Given the description of an element on the screen output the (x, y) to click on. 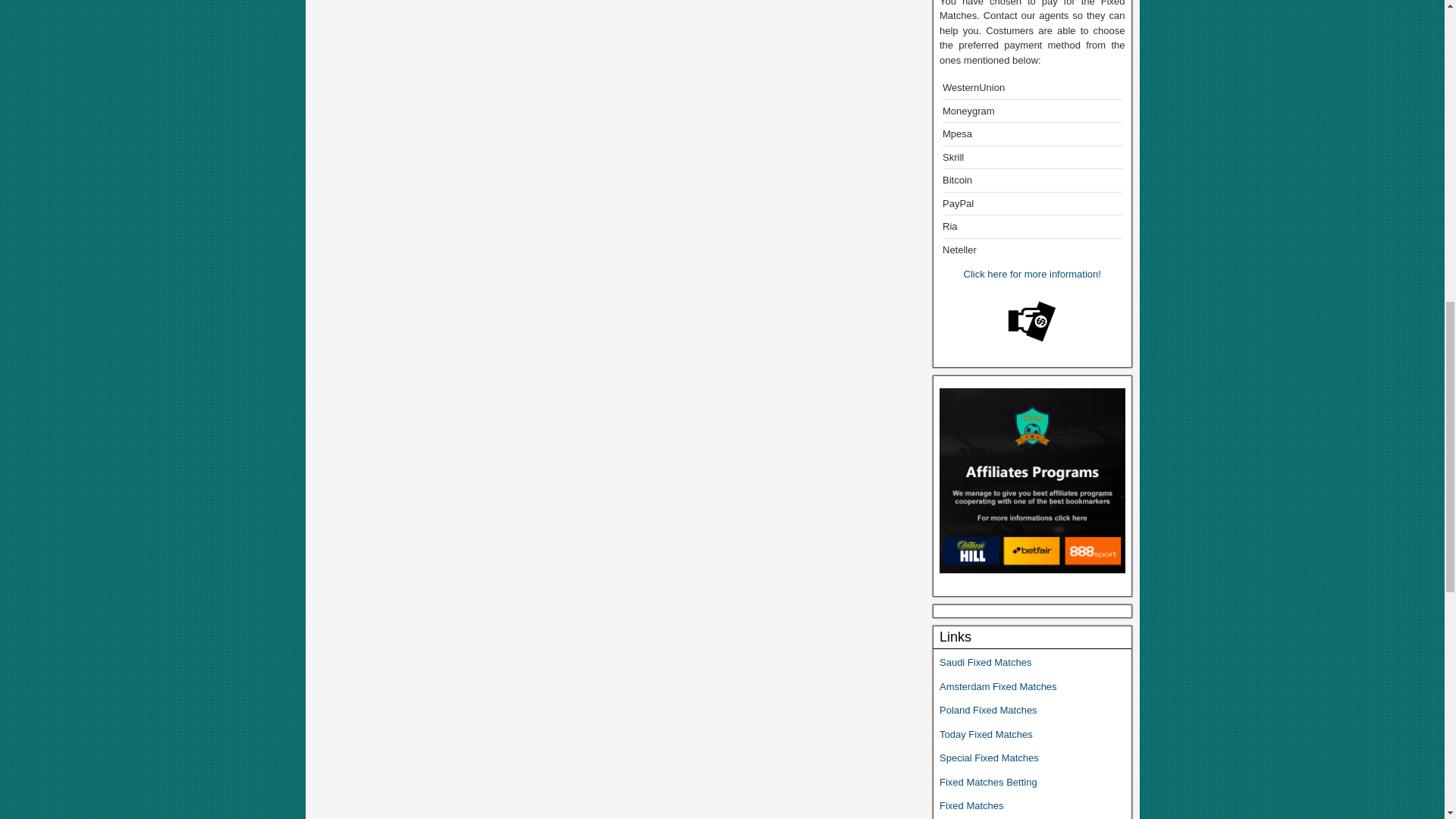
Poland Fixed Matches (987, 709)
Fixed Matches (971, 805)
Saudi Fixed Matches (984, 662)
Amsterdam Fixed Matches (998, 686)
Today Fixed Matches  (987, 734)
Special Fixed Matches (989, 757)
Fixed Matches Betting (987, 781)
Click here for more information! (1031, 274)
